Given the description of an element on the screen output the (x, y) to click on. 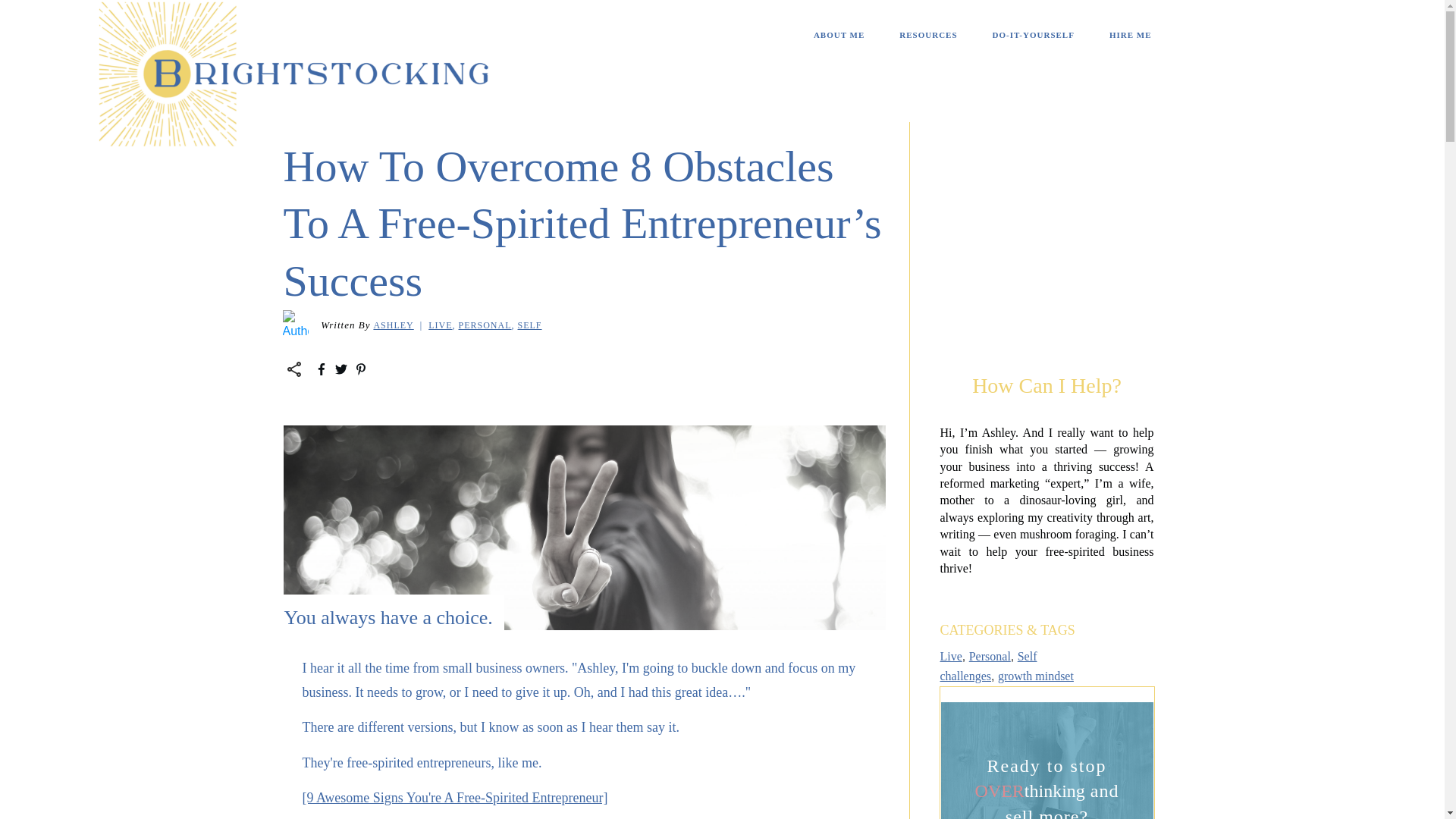
SELF (529, 325)
Live (439, 325)
RESOURCES (927, 34)
Personal (989, 656)
DO-IT-YOURSELF (1033, 34)
PERSONAL (484, 325)
growth mindset (1035, 675)
Personal (989, 656)
Ashley (392, 325)
growth mindset (1035, 675)
